Given the description of an element on the screen output the (x, y) to click on. 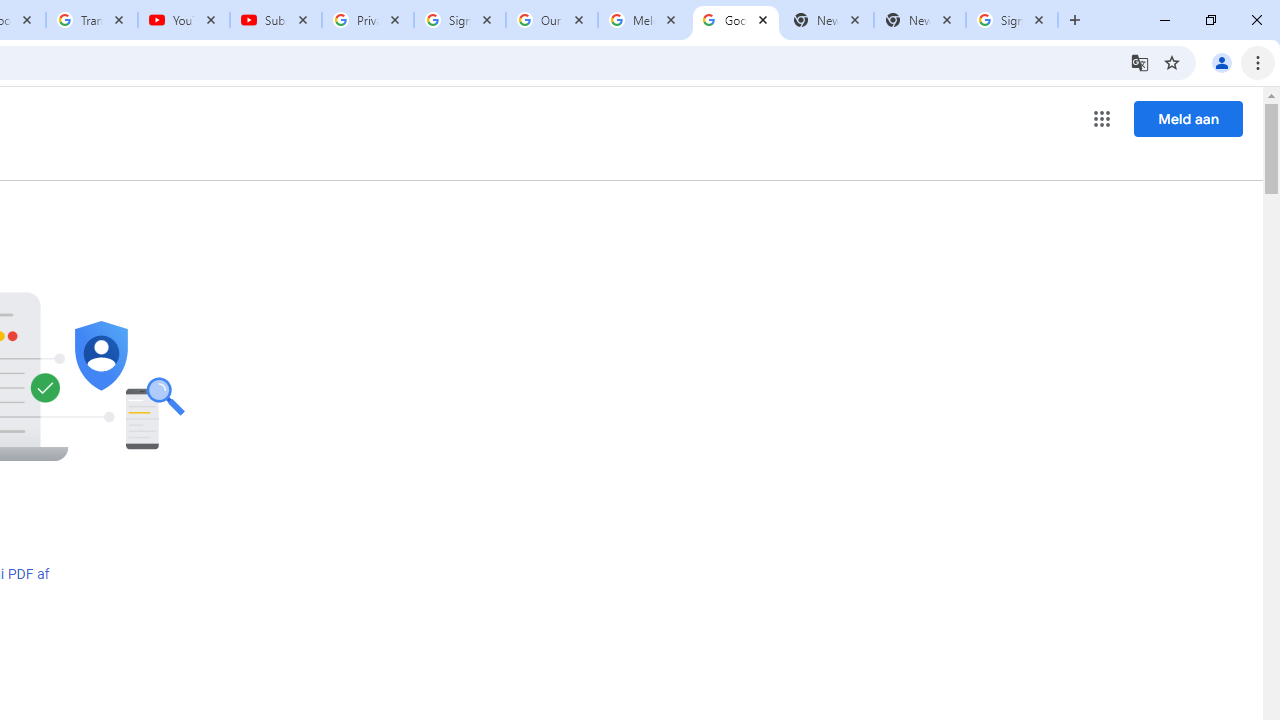
Translate this page (1139, 62)
Sign in - Google Accounts (1012, 20)
